Given the description of an element on the screen output the (x, y) to click on. 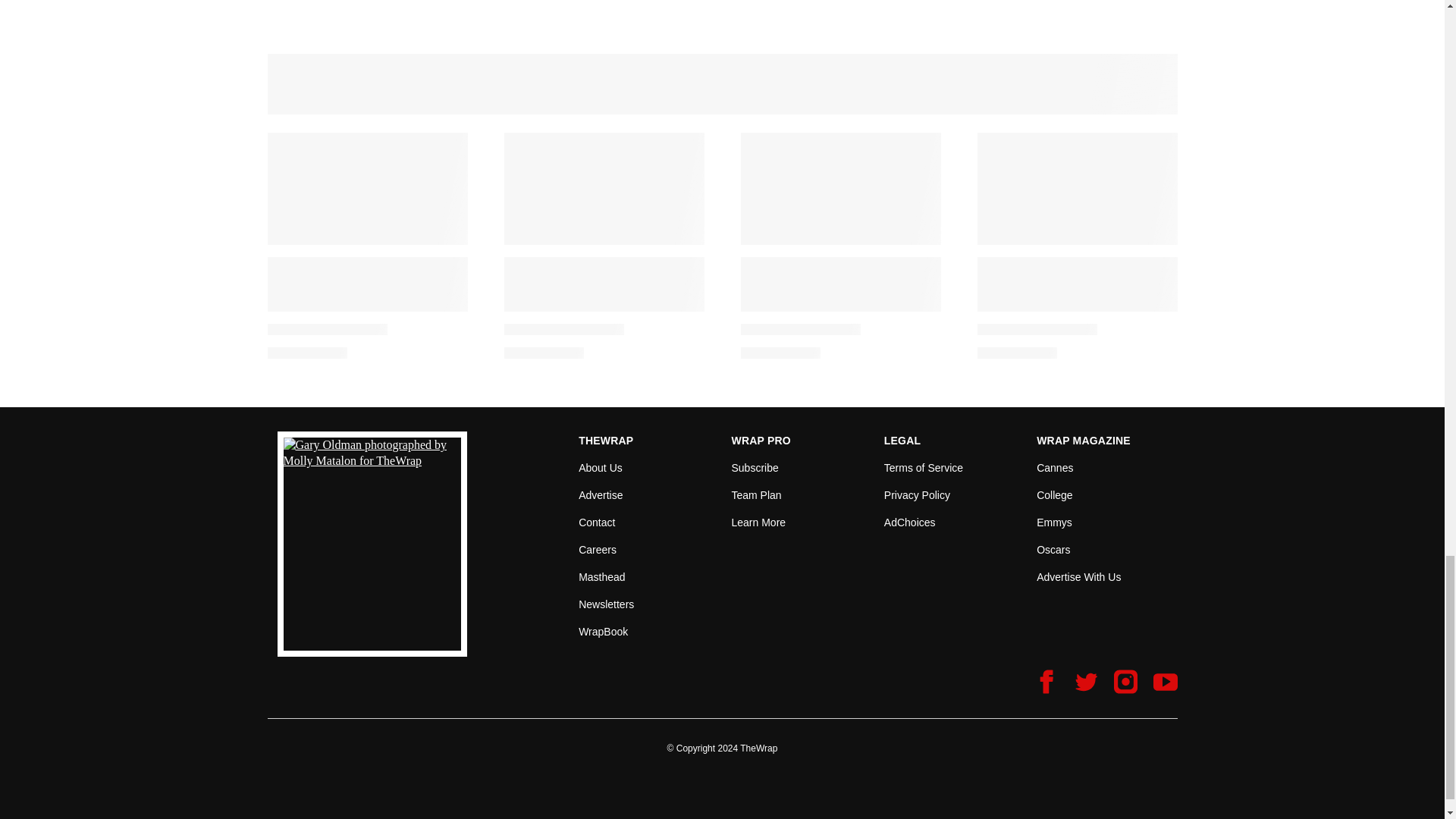
Learn more about becoming a member (758, 522)
